Given the description of an element on the screen output the (x, y) to click on. 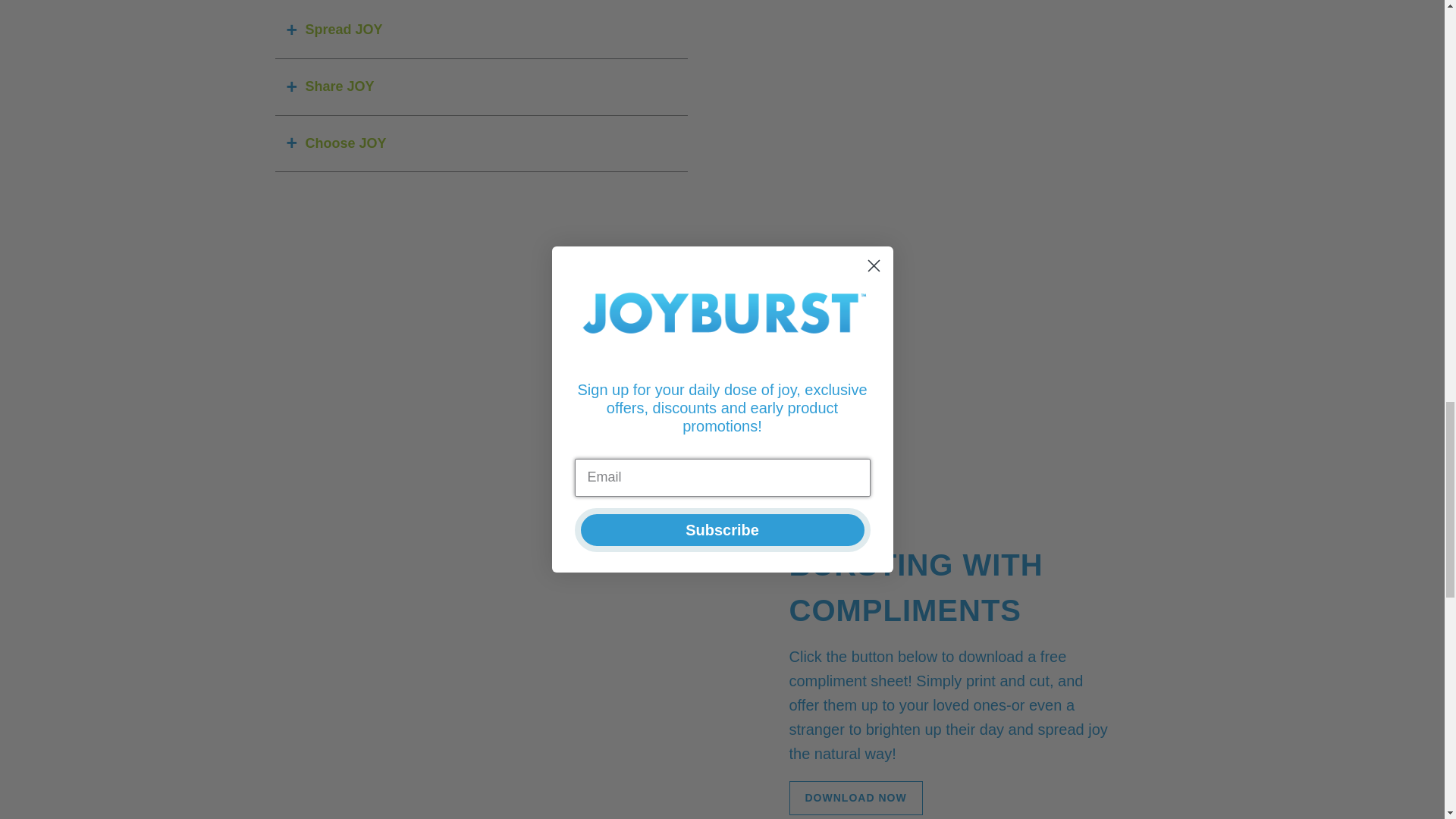
Share JOY (481, 87)
Choose JOY (481, 144)
BURSTING WITH COMPLIMENTS (949, 585)
DOWNLOAD NOW (855, 797)
Spread JOY (481, 30)
